Given the description of an element on the screen output the (x, y) to click on. 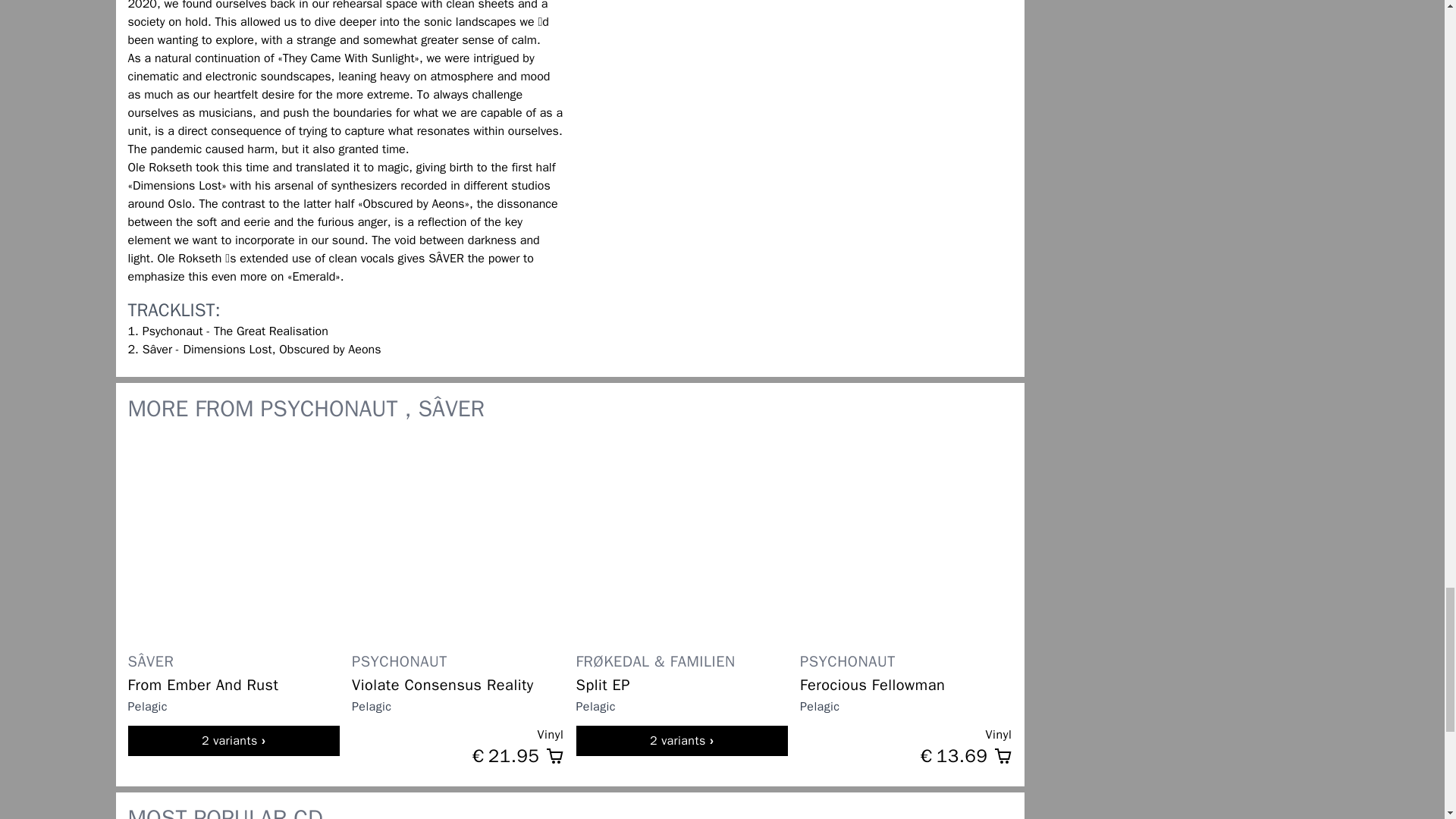
PSYCHONAUT (847, 660)
PSYCHONAUT (399, 660)
Pelagic (819, 706)
Pelagic (595, 706)
From Ember And Rust (233, 684)
Pelagic (147, 706)
Pelagic (371, 706)
Split EP (682, 684)
Ferocious Fellowman (905, 684)
Violate Consensus Reality (458, 684)
